Given the description of an element on the screen output the (x, y) to click on. 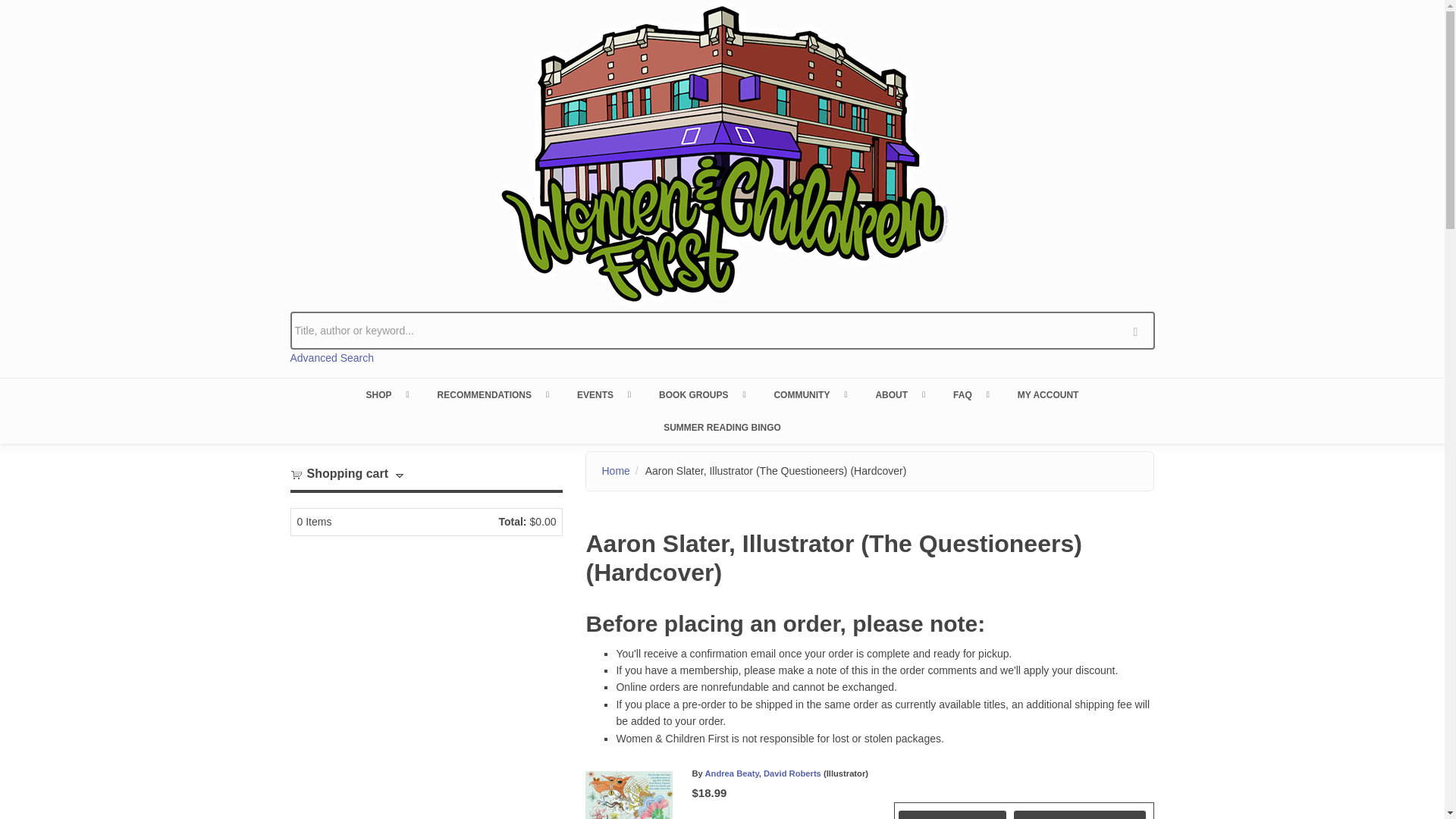
EVENTS (602, 394)
View your shopping cart. (295, 473)
Instructions for summer bingo! (721, 427)
SHOP (386, 394)
Home (722, 152)
RECOMMENDATIONS (492, 394)
About the Owners and the History of Women and Children First (898, 394)
Advanced Search (331, 357)
Title, author or keyword... (721, 330)
Add to Cart (952, 814)
